Given the description of an element on the screen output the (x, y) to click on. 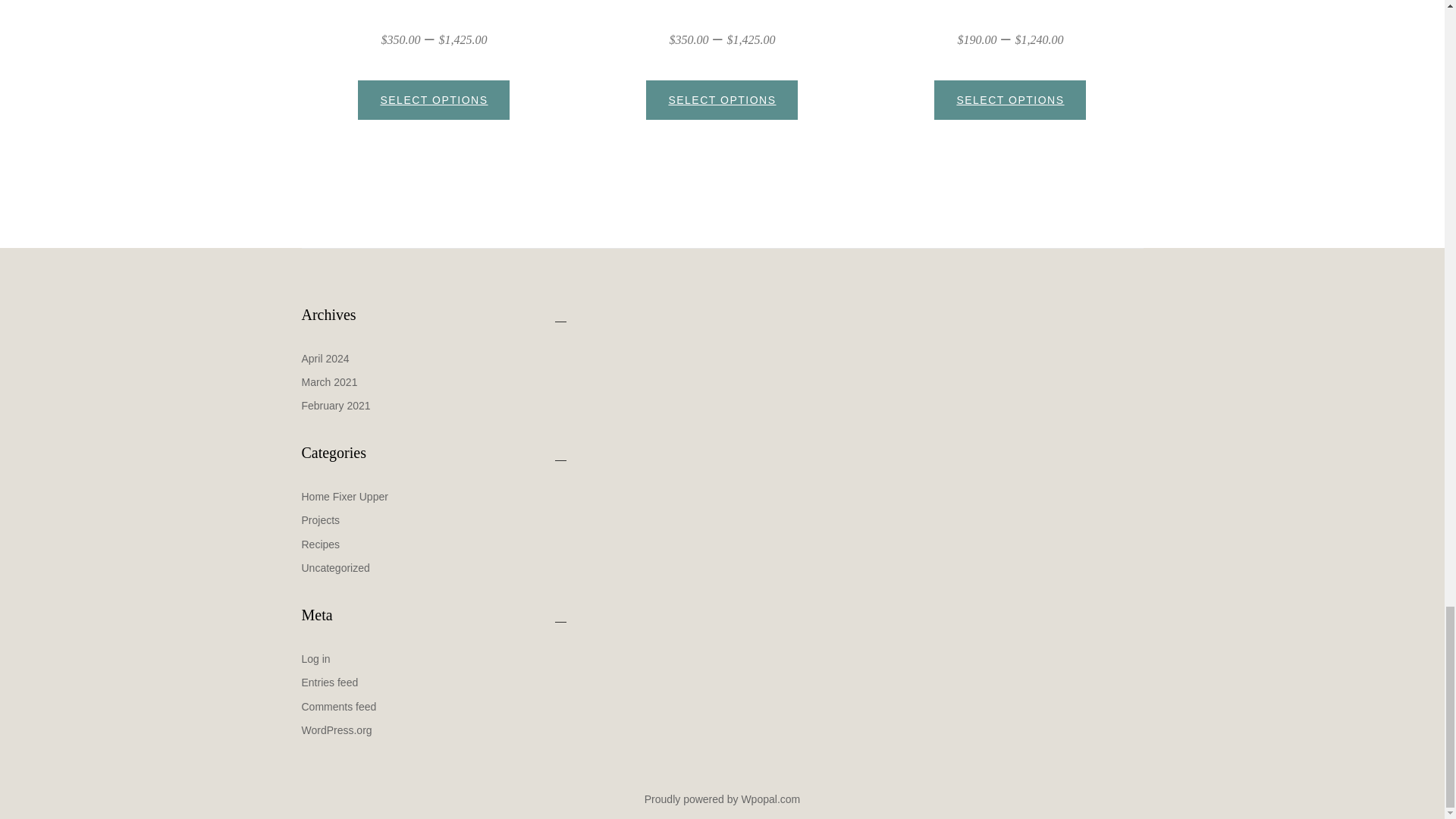
SELECT OPTIONS (721, 99)
SELECT OPTIONS (433, 99)
SELECT OPTIONS (1010, 99)
